Given the description of an element on the screen output the (x, y) to click on. 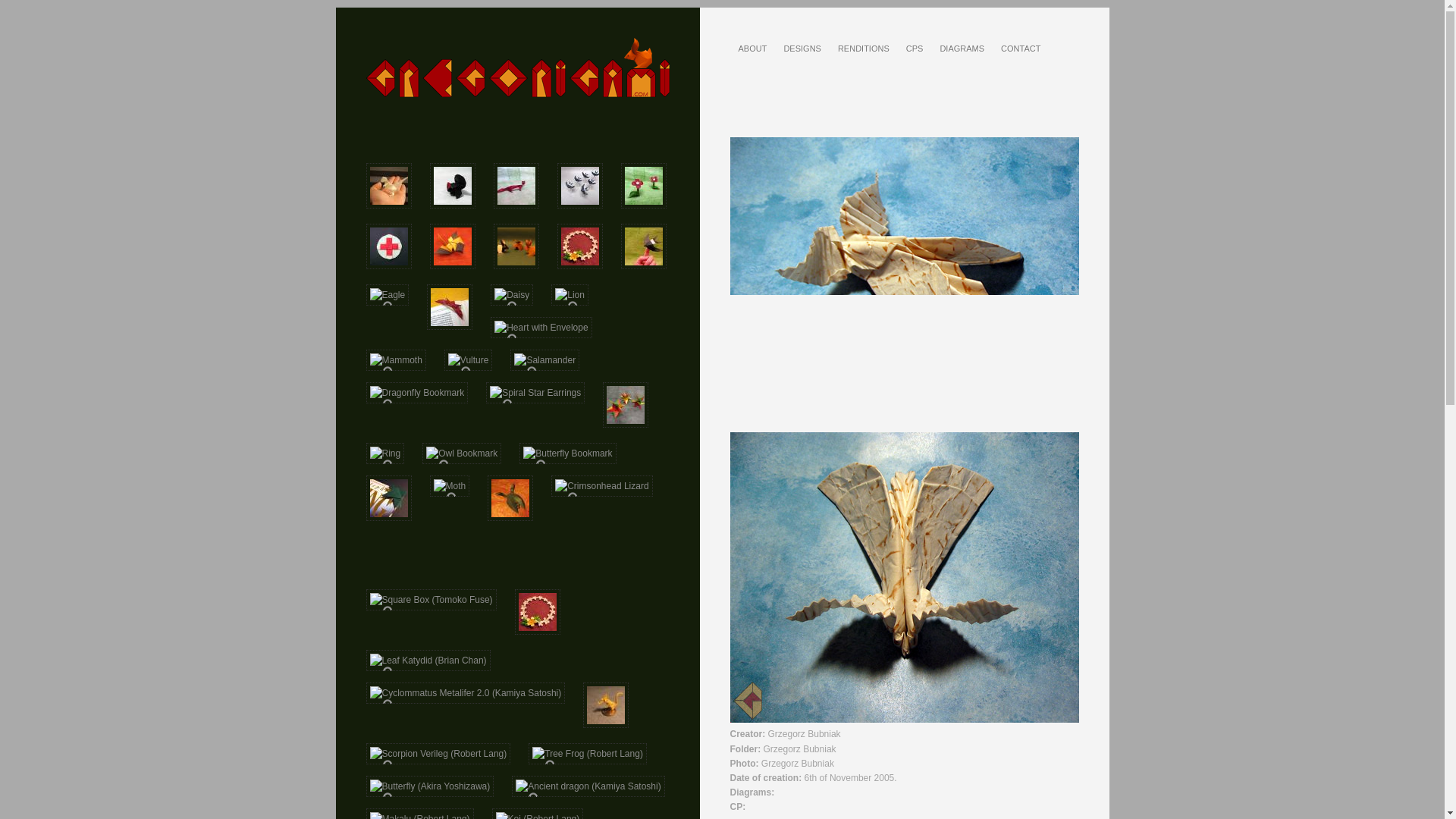
Moth designed and folded by Grzegorz Bubniak (903, 577)
Moth designed and folded by Grzegorz Bubniak (903, 282)
